Given the description of an element on the screen output the (x, y) to click on. 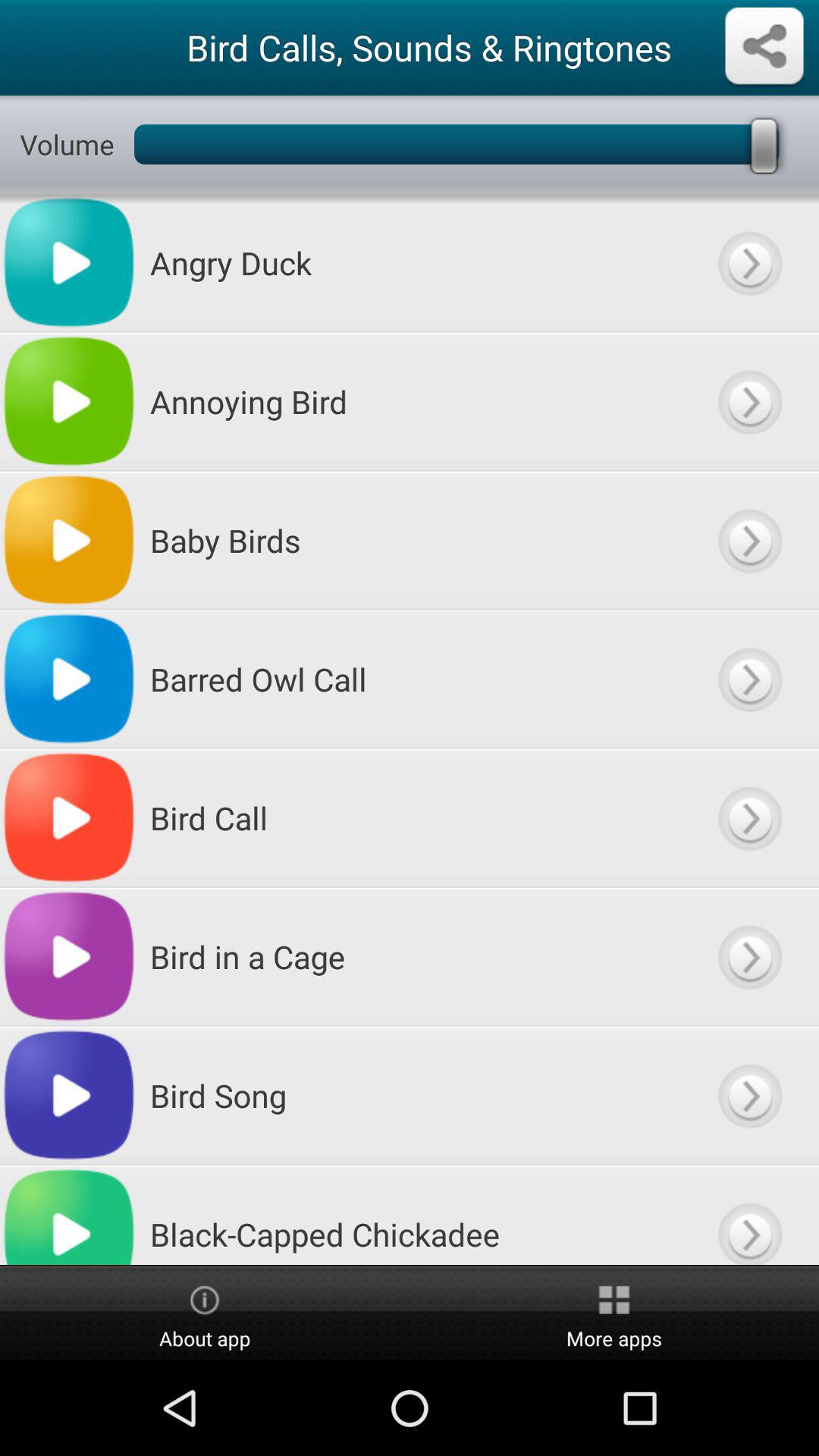
share option (764, 47)
